Given the description of an element on the screen output the (x, y) to click on. 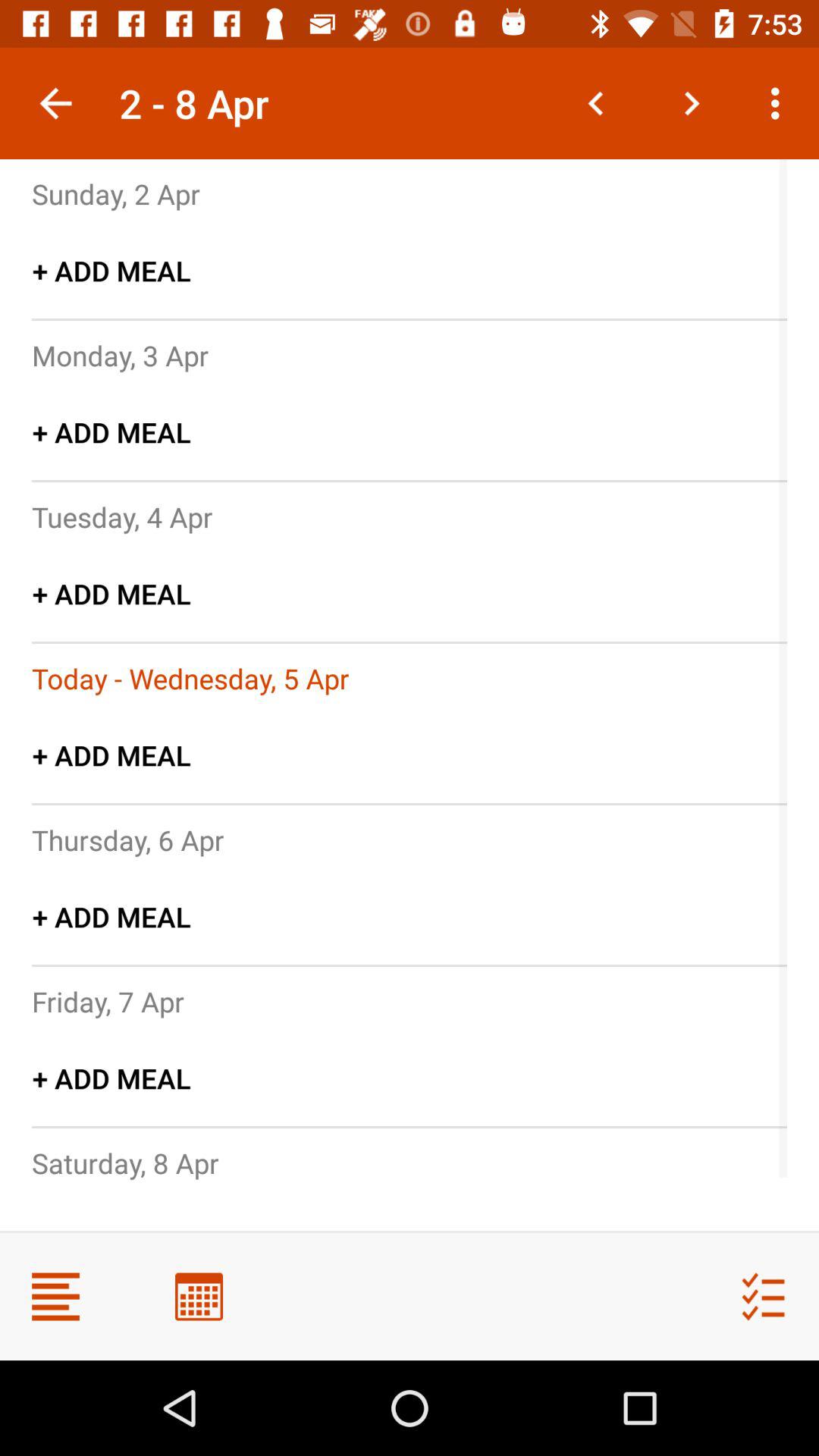
open icon below + add meal item (121, 516)
